Given the description of an element on the screen output the (x, y) to click on. 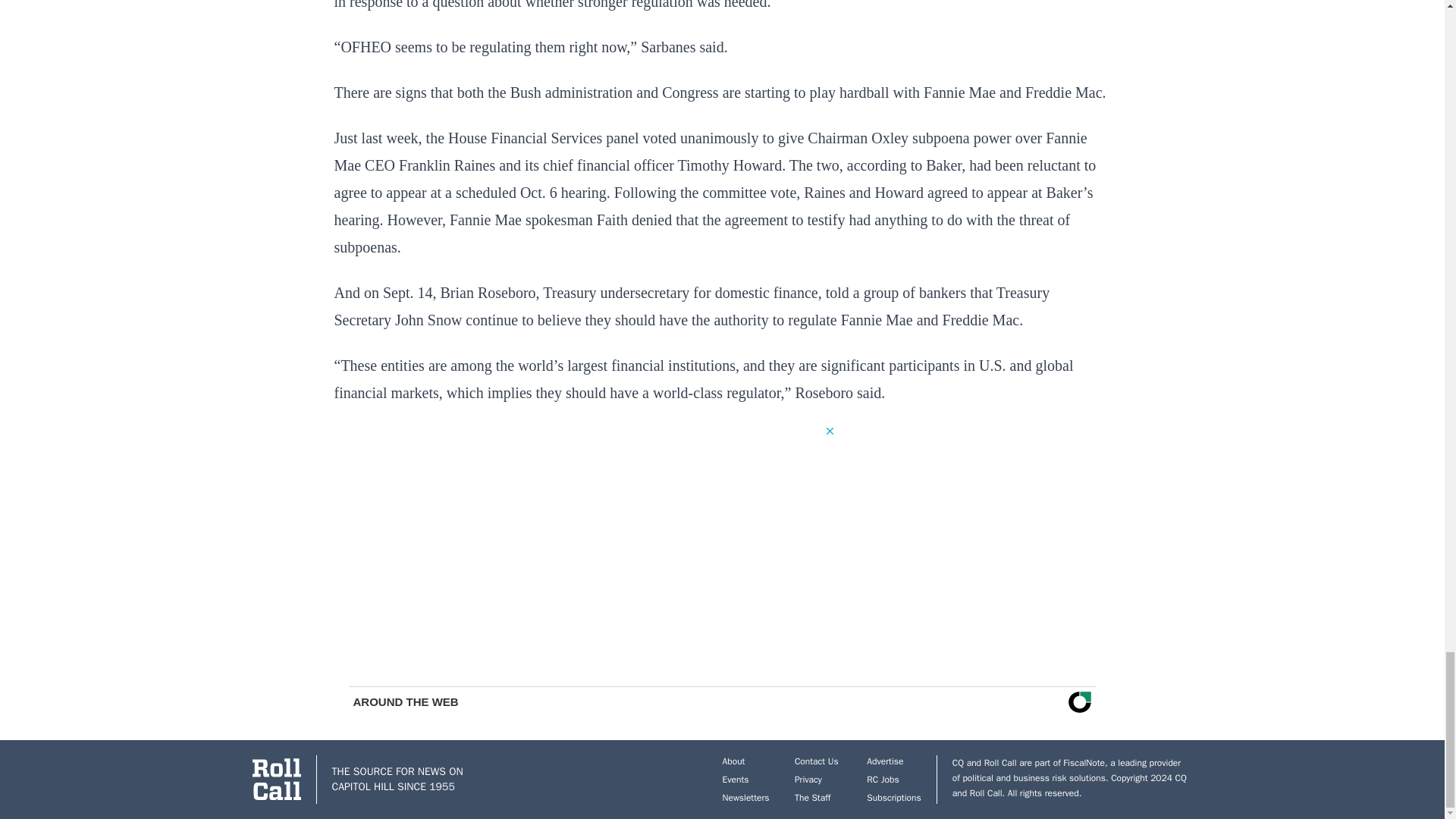
3rd party ad content (721, 519)
